Given the description of an element on the screen output the (x, y) to click on. 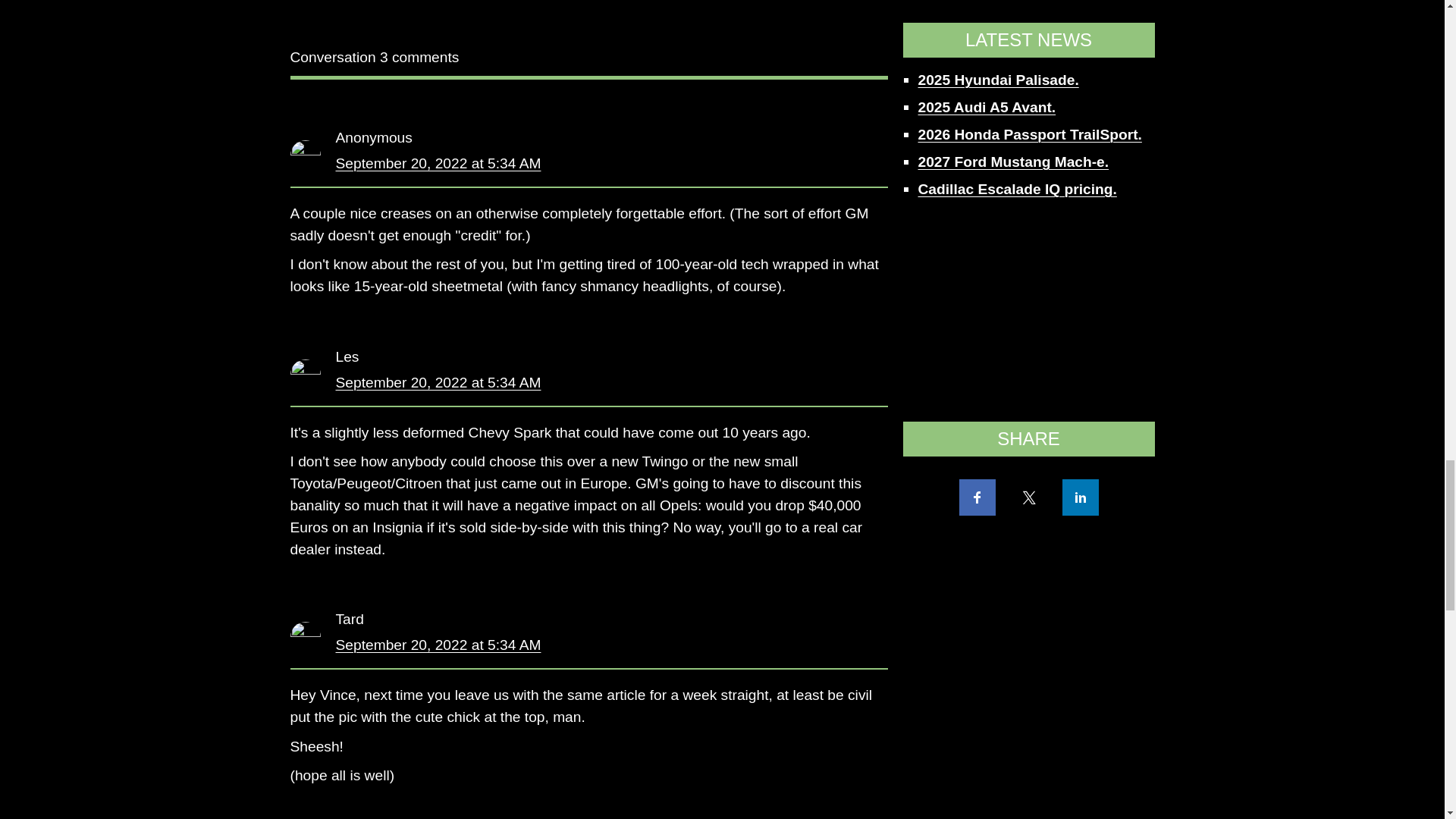
September 20, 2022 at 5:34 AM (437, 382)
September 20, 2022 at 5:34 AM (437, 163)
September 20, 2022 at 5:34 AM (437, 644)
